Given the description of an element on the screen output the (x, y) to click on. 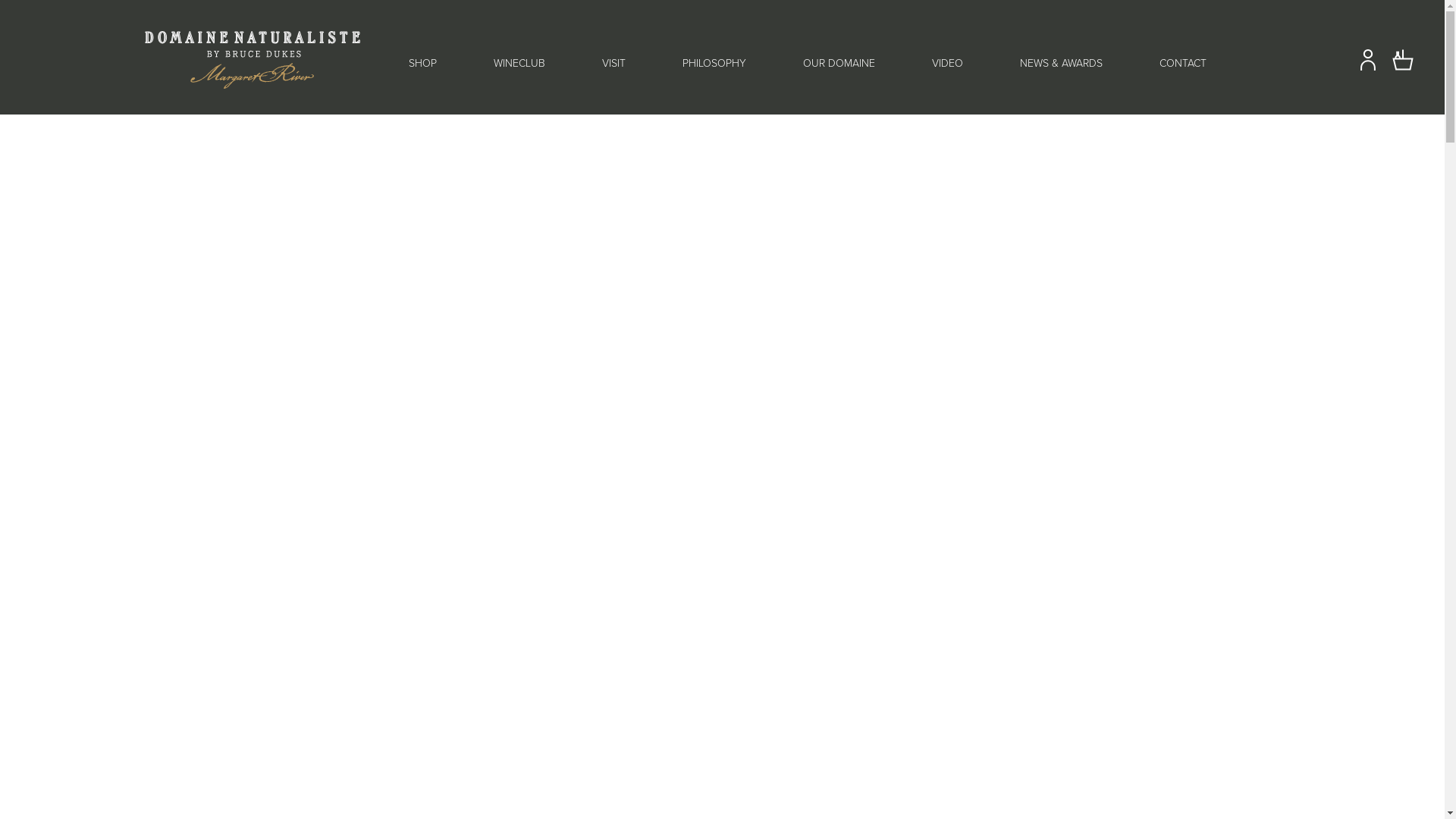
NEWS & AWARDS Element type: text (1060, 62)
SHOP Element type: text (421, 62)
PHILOSOPHY Element type: text (714, 62)
WINECLUB Element type: text (518, 62)
VIDEO Element type: text (946, 62)
VISIT Element type: text (613, 62)
CONTACT Element type: text (1181, 62)
OUR DOMAINE Element type: text (838, 62)
login Element type: hover (1367, 67)
